Given the description of an element on the screen output the (x, y) to click on. 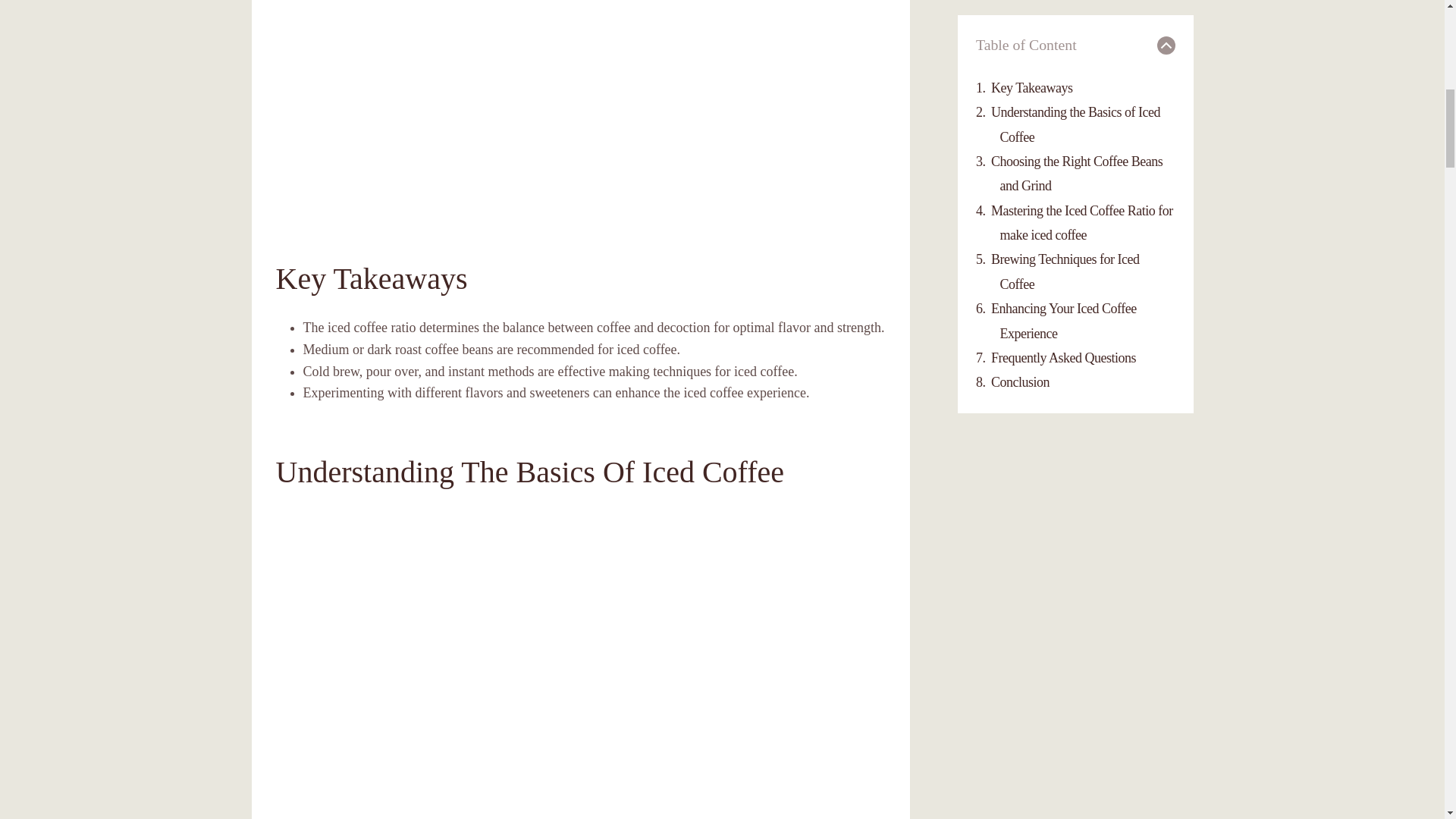
Iced Coffee Ideas! (581, 105)
